Given the description of an element on the screen output the (x, y) to click on. 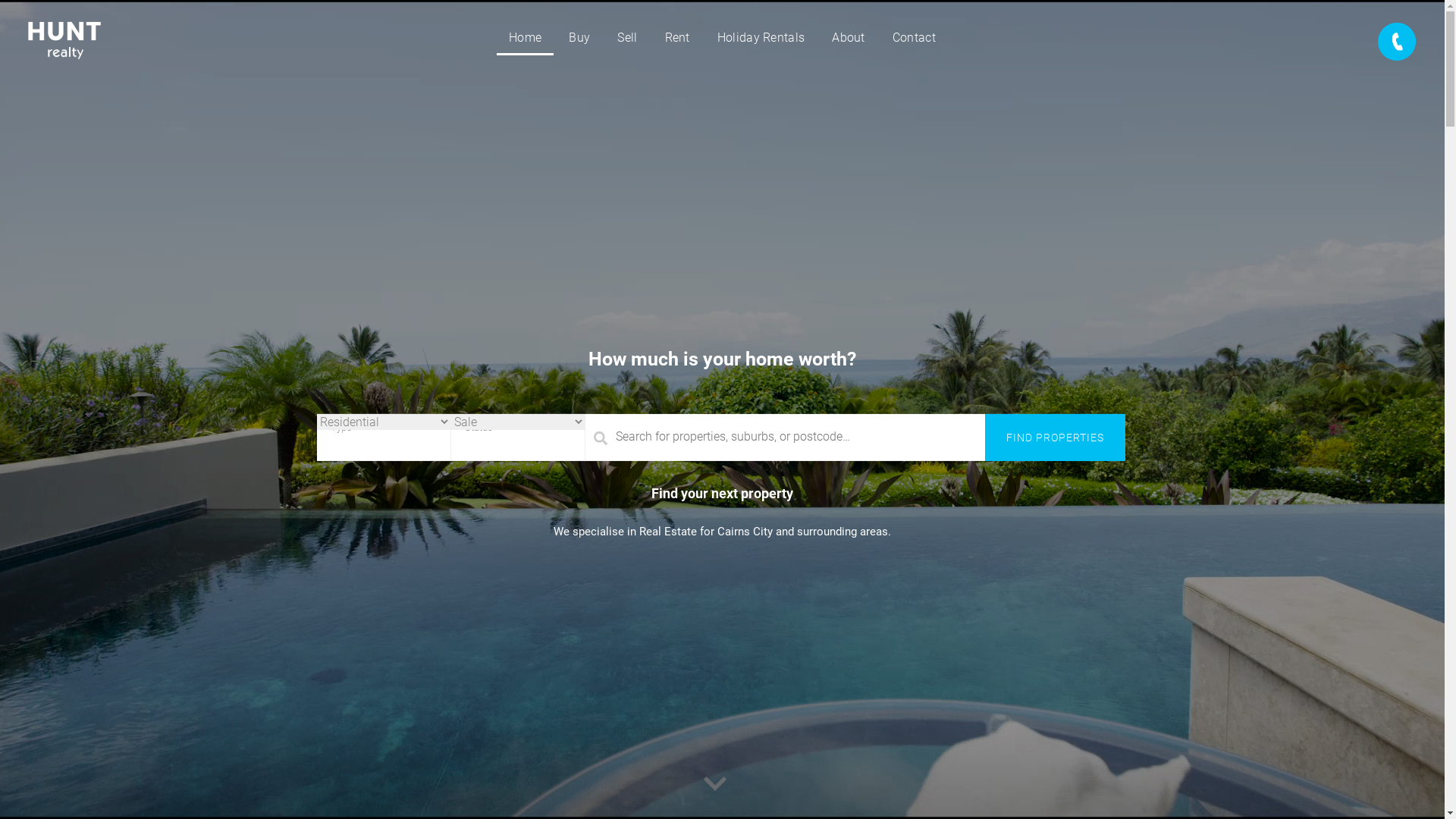
Rent Element type: text (676, 37)
Contact Element type: text (913, 37)
About Element type: text (848, 37)
Buy Element type: text (578, 37)
How much is your home worth? Element type: text (722, 358)
FIND PROPERTIES Element type: text (1054, 437)
Home Element type: text (524, 37)
Holiday Rentals Element type: text (761, 37)
Sell Element type: text (627, 37)
